Given the description of an element on the screen output the (x, y) to click on. 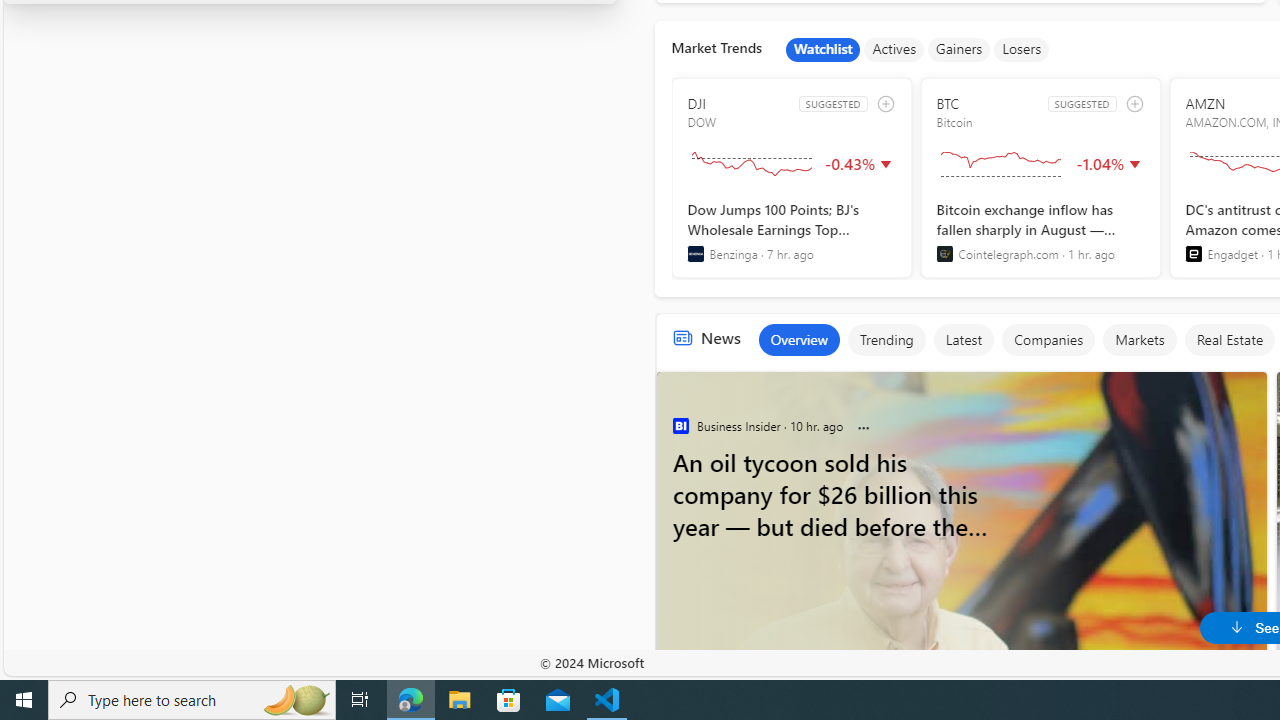
Cointelegraph.com (944, 254)
Gainers (959, 49)
Business Insider (680, 426)
Companies (1047, 339)
DJI SUGGESTED DOW (791, 178)
Actives (894, 49)
Trending (886, 339)
Losers (1021, 49)
BTC SUGGESTED Bitcoin (1040, 178)
Markets (1139, 339)
Latest (963, 339)
